Given the description of an element on the screen output the (x, y) to click on. 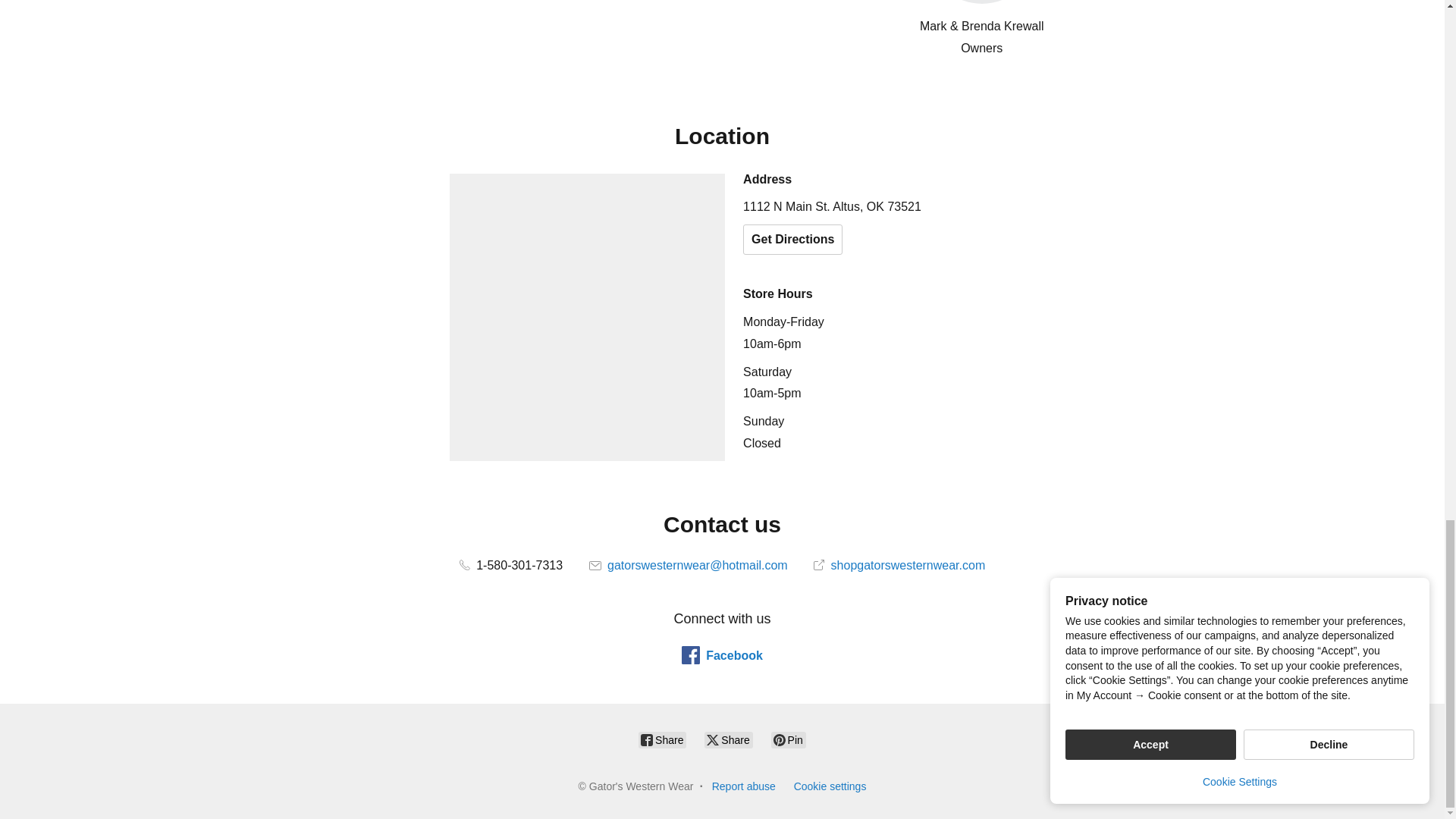
Location on map (586, 317)
